Given the description of an element on the screen output the (x, y) to click on. 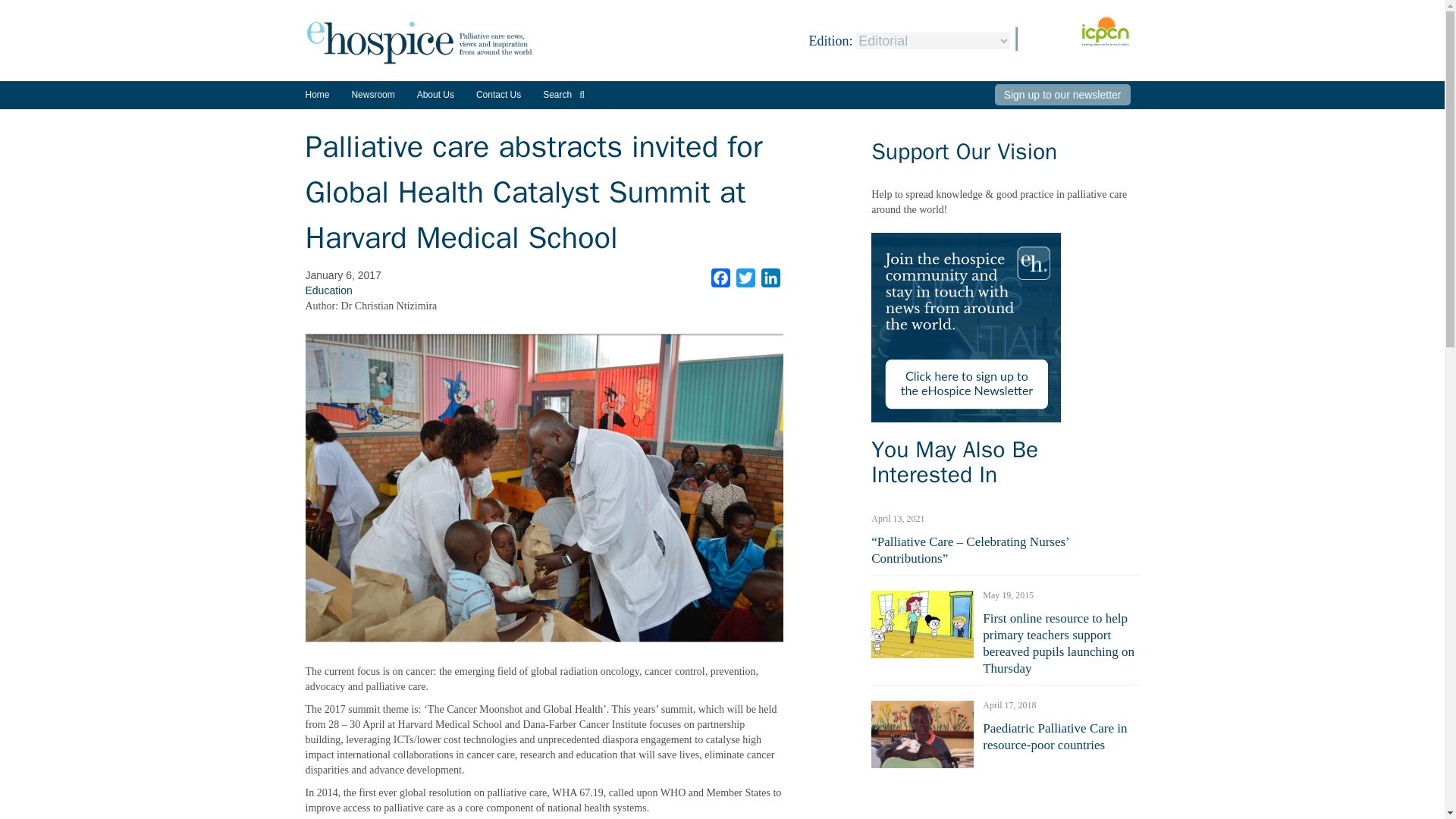
LinkedIn (770, 277)
Twitter (745, 277)
Newsroom (372, 100)
Home (316, 94)
About Us (435, 94)
Facebook (720, 277)
Contact Us (498, 94)
Search (564, 94)
Sign up to our newsletter (1062, 94)
